Given the description of an element on the screen output the (x, y) to click on. 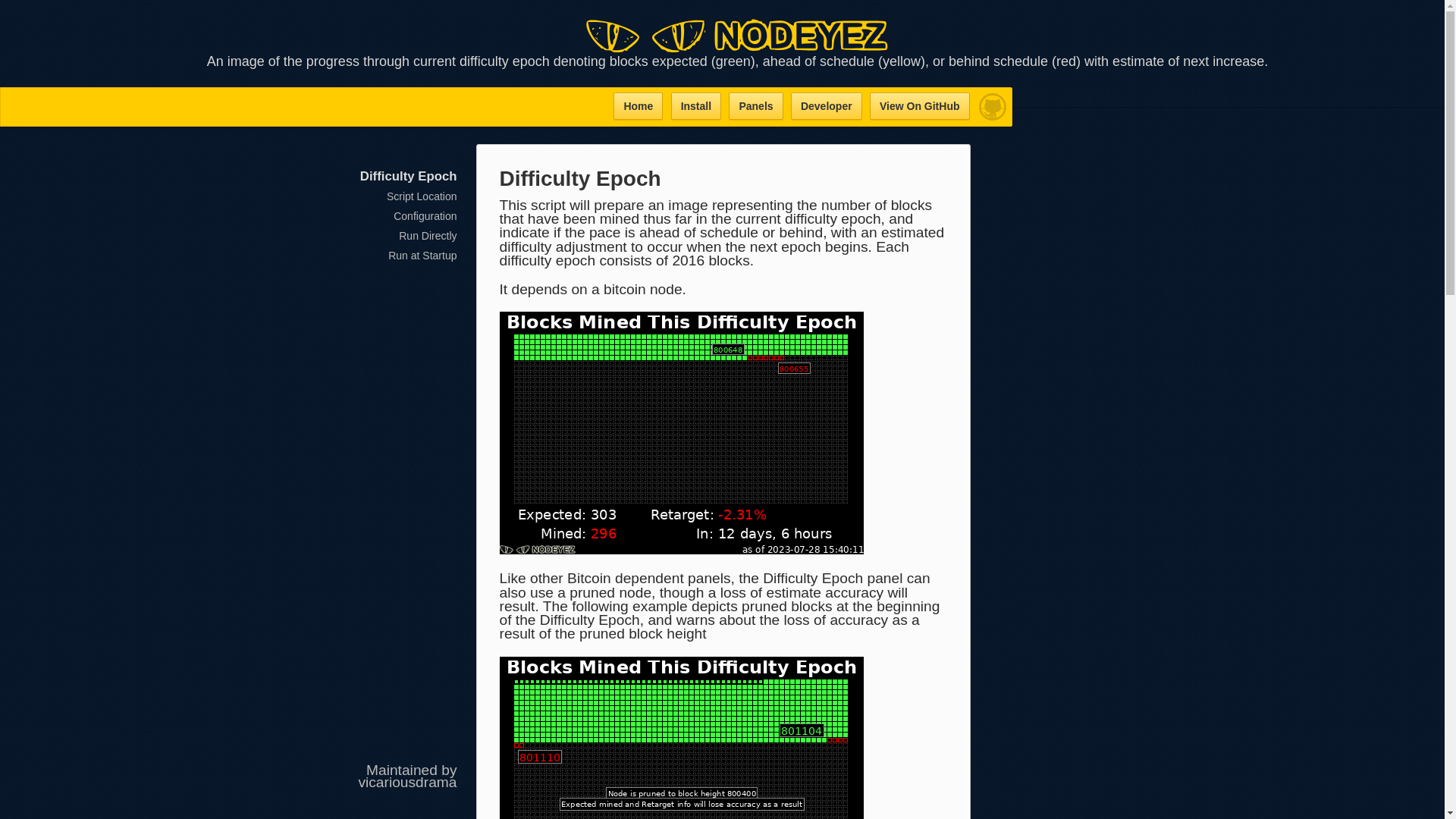
Configuration (425, 215)
Panels (756, 105)
vicariousdrama (407, 781)
Run Directly (427, 235)
Difficulty Epoch (408, 175)
Developer (825, 105)
Home (637, 105)
Install (695, 105)
Run at Startup (422, 255)
View On GitHub (919, 105)
Script Location (422, 196)
